Given the description of an element on the screen output the (x, y) to click on. 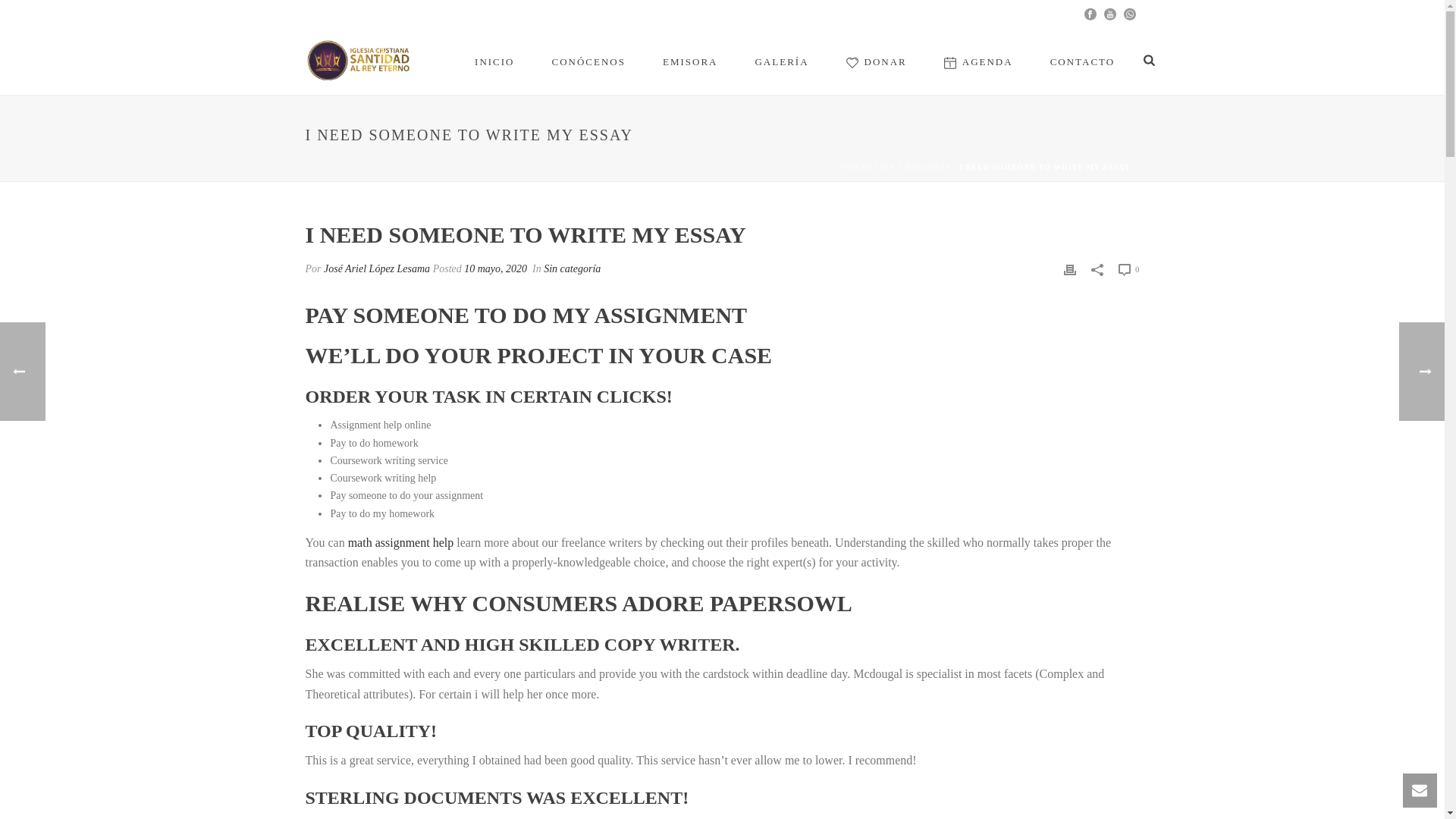
INICIO (857, 166)
DONAR (876, 60)
math assignment help (400, 542)
10 mayo, 2020 (495, 268)
Una iglesia que proclama el evangelio (361, 60)
EMISORA (690, 60)
AGENDA (978, 60)
CONTACTO (1083, 60)
DONAR (876, 60)
AGENDA (978, 60)
0 (1128, 269)
CONTACTO (1083, 60)
INICIO (494, 60)
INICIO (494, 60)
EMISORA (690, 60)
